Given the description of an element on the screen output the (x, y) to click on. 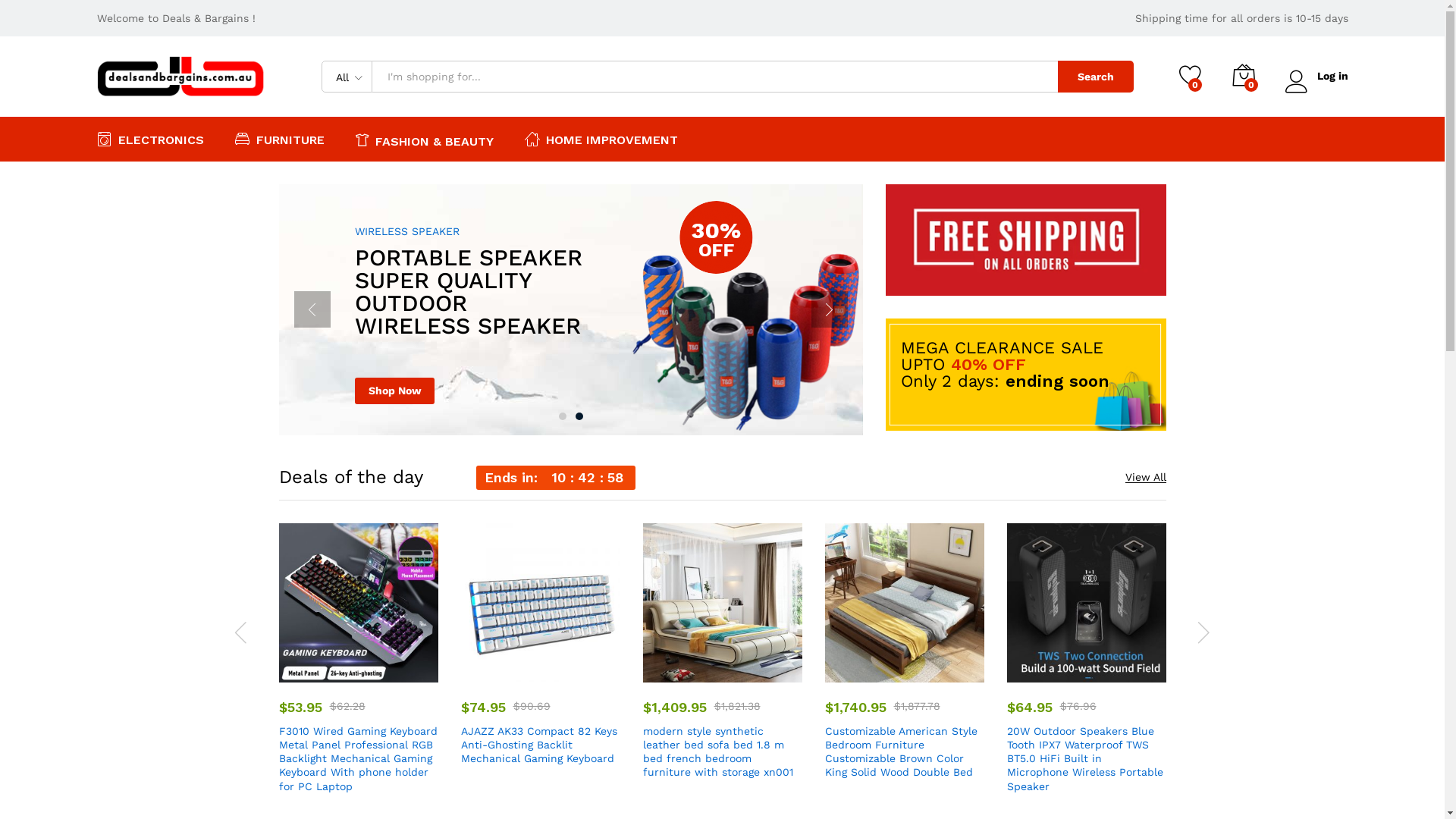
Shipping time for all orders is 10-15 days Element type: text (1240, 18)
FASHION & BEAUTY Element type: text (423, 139)
Search Element type: text (1094, 76)
FURNITURE Element type: text (279, 138)
ELECTRONICS Element type: text (150, 138)
Log in Element type: text (1315, 75)
Shop Now Element type: text (394, 390)
0 Element type: text (1189, 76)
0 Element type: text (1242, 76)
HOME IMPROVEMENT Element type: text (600, 138)
View All Element type: text (1145, 477)
